Given the description of an element on the screen output the (x, y) to click on. 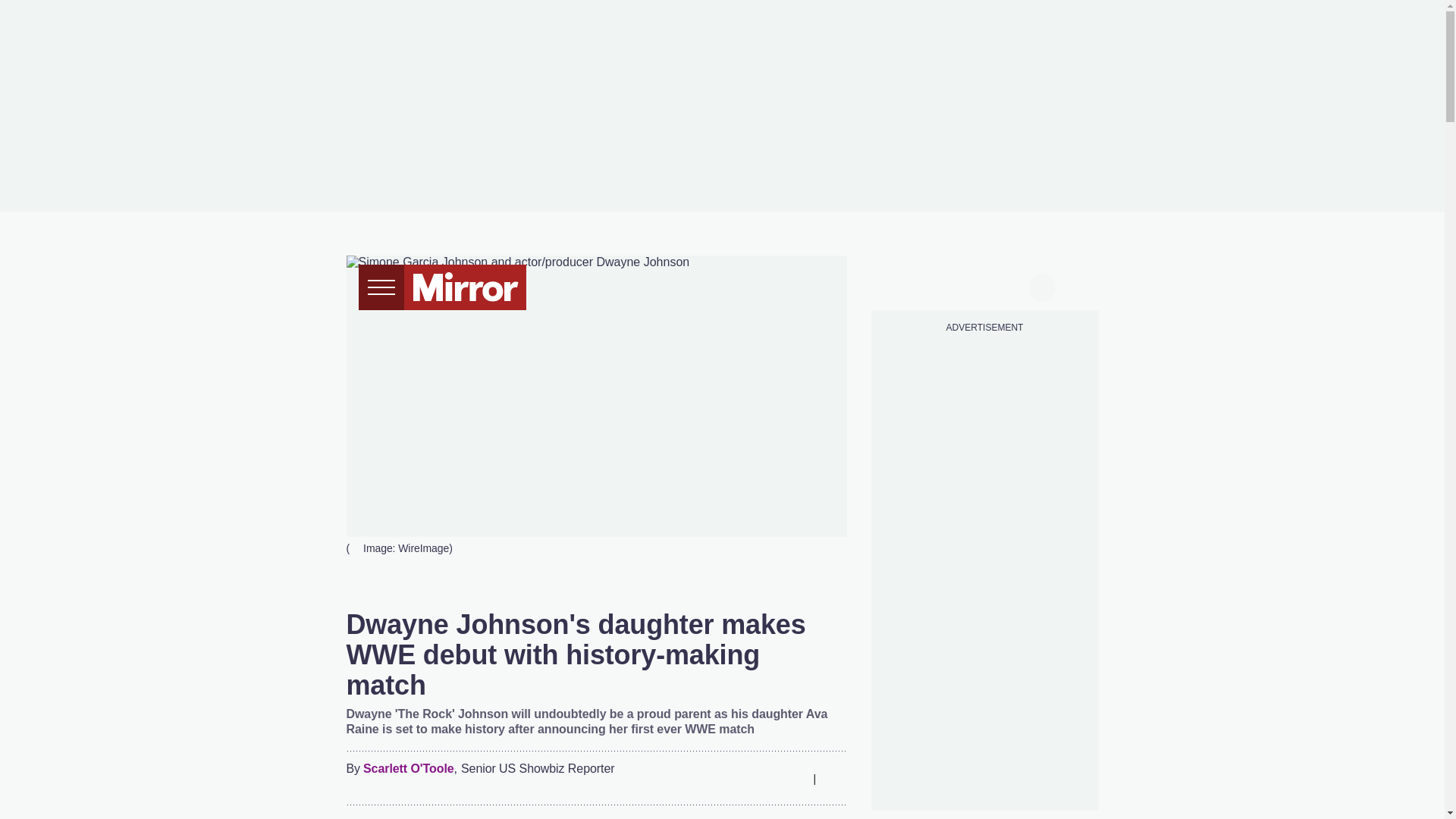
twitter (926, 285)
Facebook (702, 778)
Twitter (733, 778)
facebook (897, 285)
snapchat (1012, 285)
tiktok (955, 285)
Whatsapp (763, 778)
Comments (834, 778)
instagram (984, 285)
Scarlett O'Toole (408, 769)
